Given the description of an element on the screen output the (x, y) to click on. 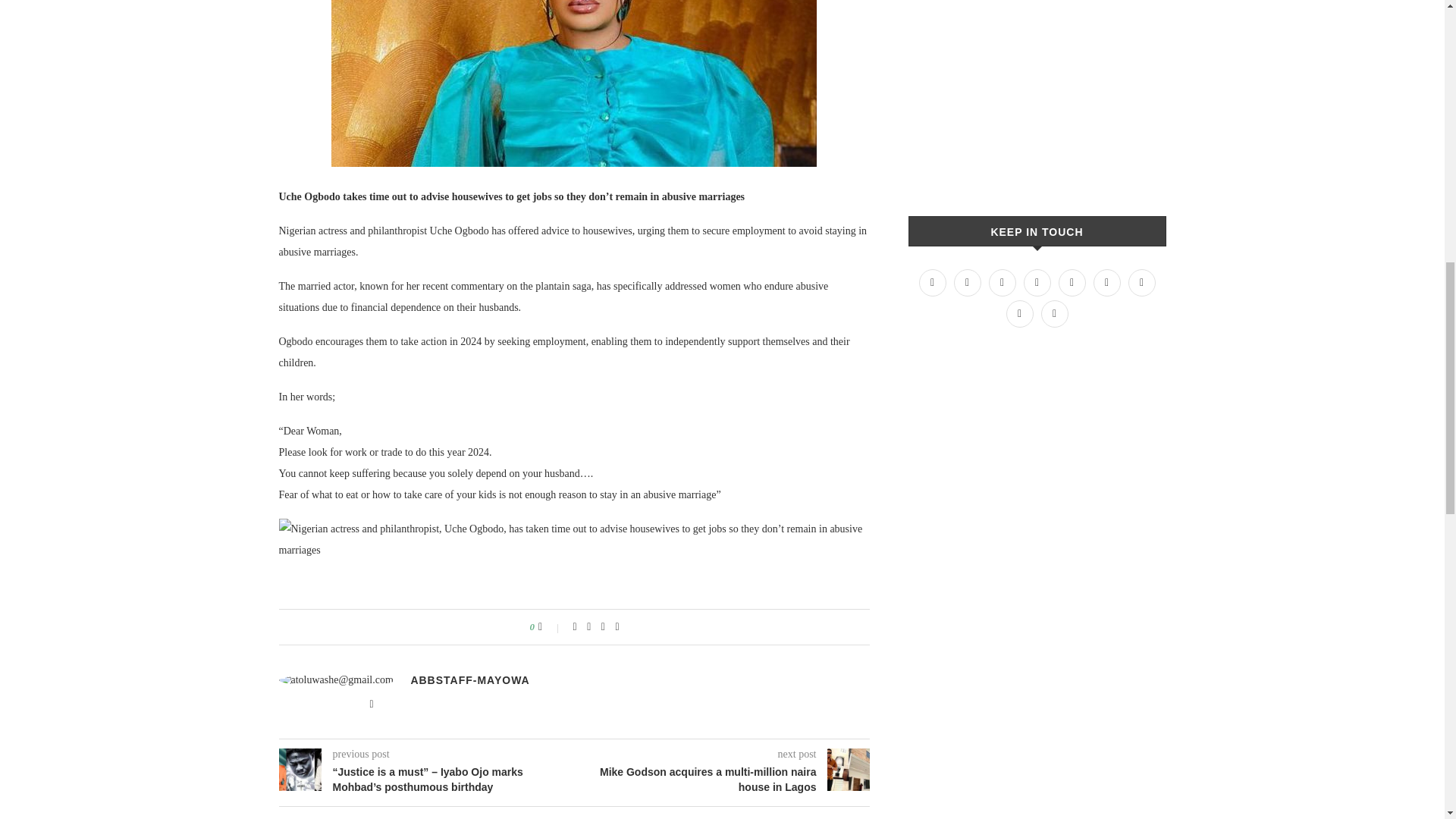
Like (550, 626)
Posts by ABBStaff-Mayowa (469, 680)
